Given the description of an element on the screen output the (x, y) to click on. 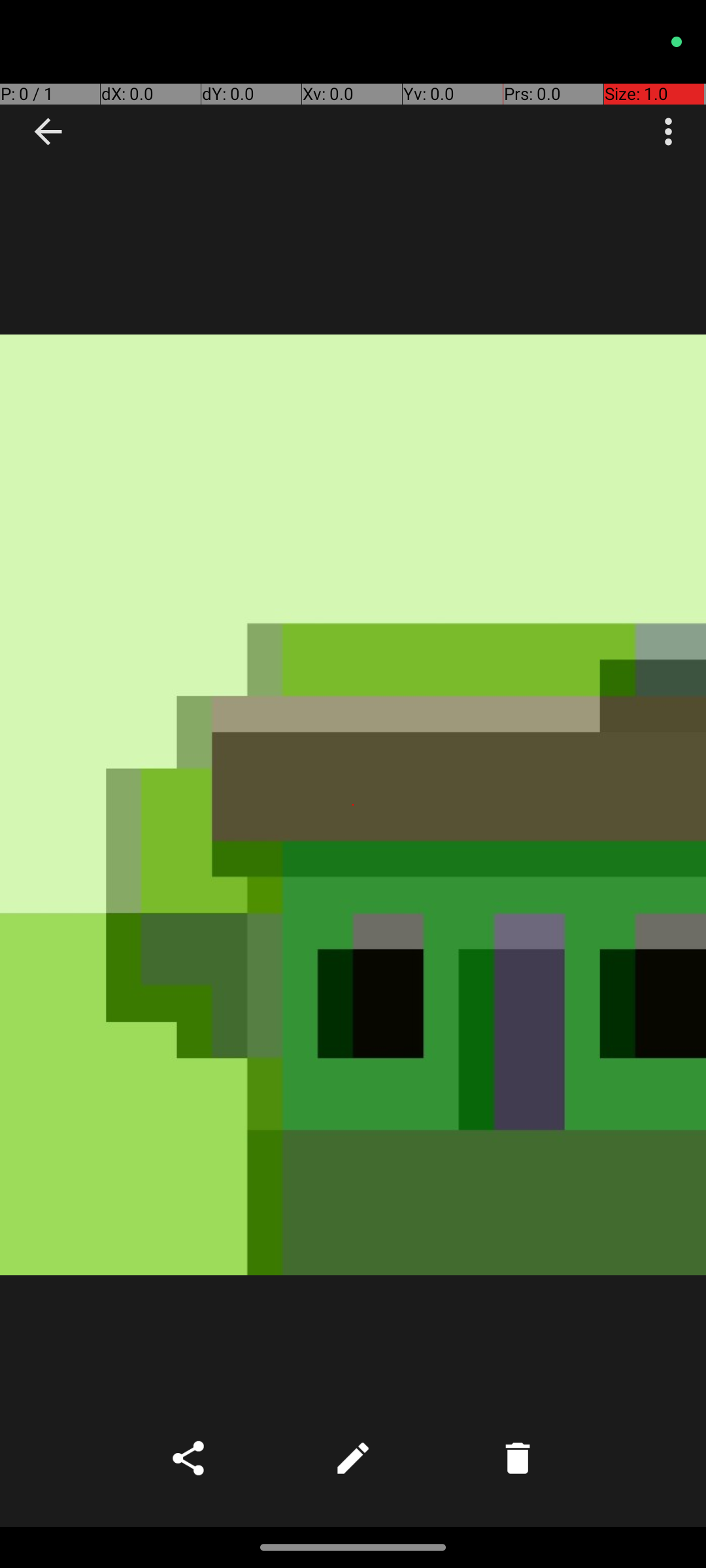
Photo taken on Oct 15, 2023 15:34:19 Element type: android.widget.ImageView (353, 804)
